Given the description of an element on the screen output the (x, y) to click on. 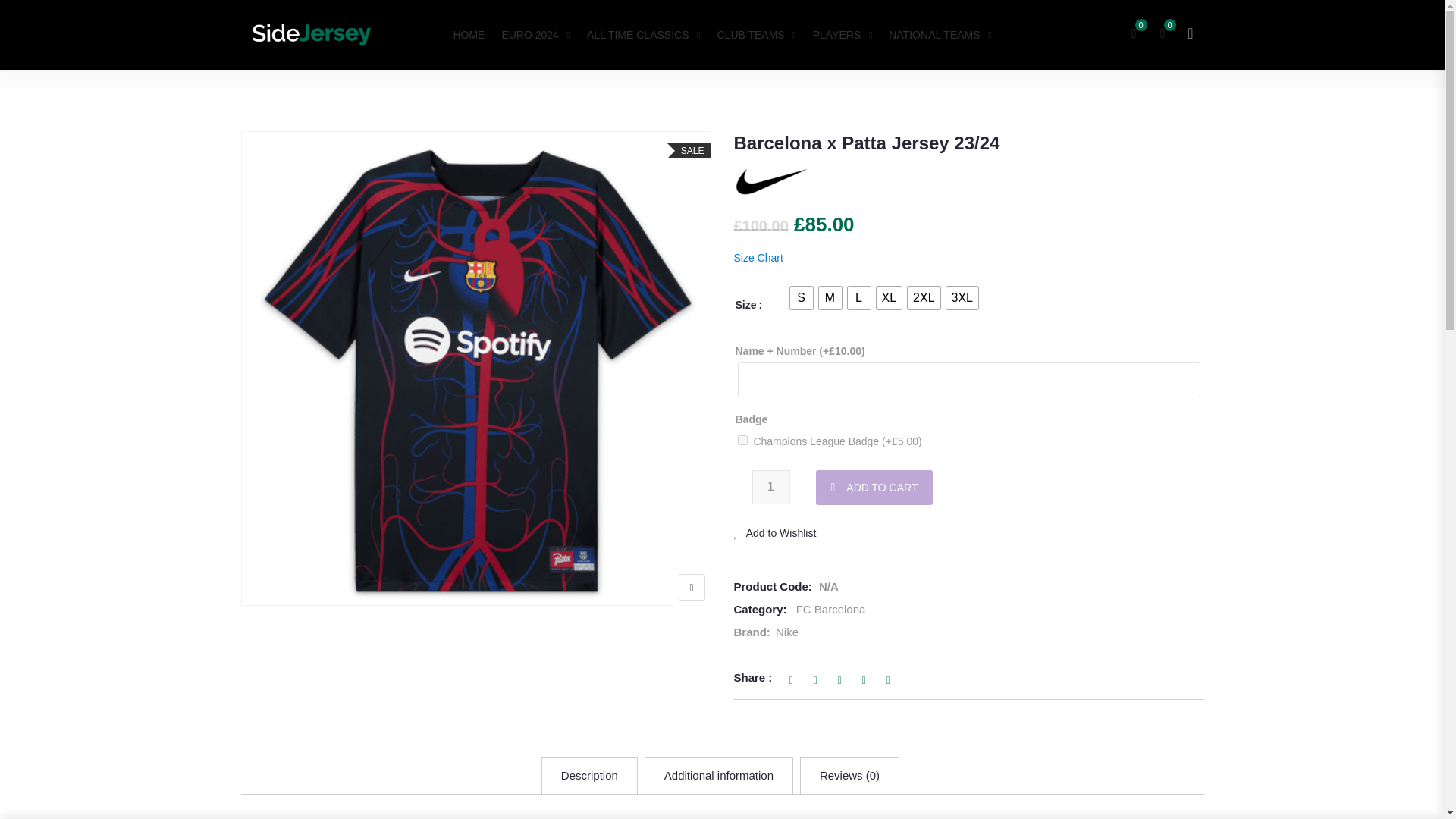
3XL (962, 297)
champions-league-badge (741, 439)
L (858, 297)
S (801, 297)
2XL (923, 297)
XL (889, 297)
EURO 2024 (534, 34)
CLUB TEAMS (756, 34)
M (829, 297)
ALL TIME CLASSICS (643, 34)
